Given the description of an element on the screen output the (x, y) to click on. 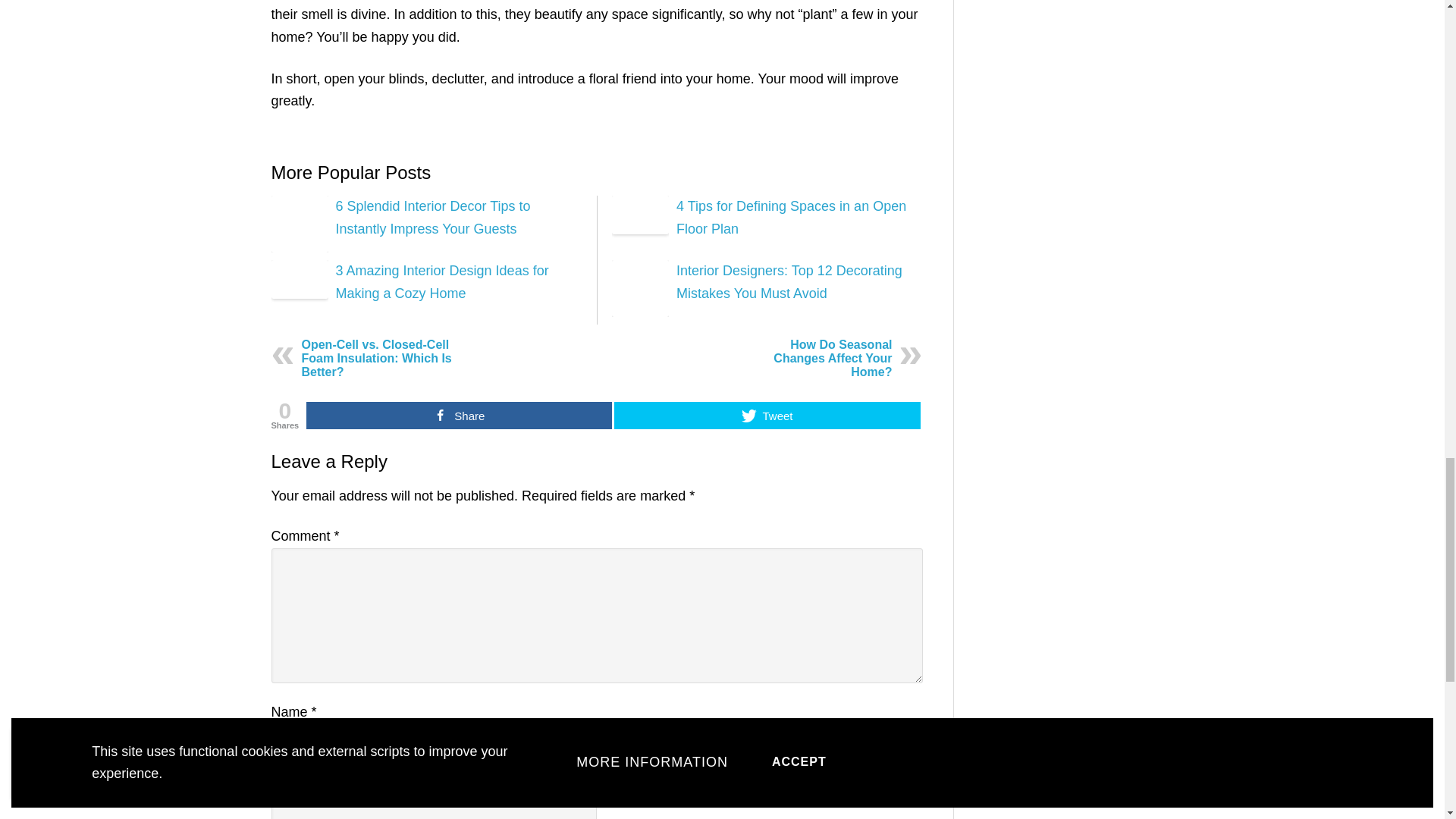
3 Amazing Interior Design Ideas for Making a Cozy Home (441, 281)
Tweet (767, 415)
4 Tips for Defining Spaces in an Open Floor Plan (791, 217)
Share (458, 415)
Open-Cell vs. Closed-Cell Foam Insulation: Which Is Better? (376, 358)
How Do Seasonal Changes Affect Your Home? (832, 358)
